Given the description of an element on the screen output the (x, y) to click on. 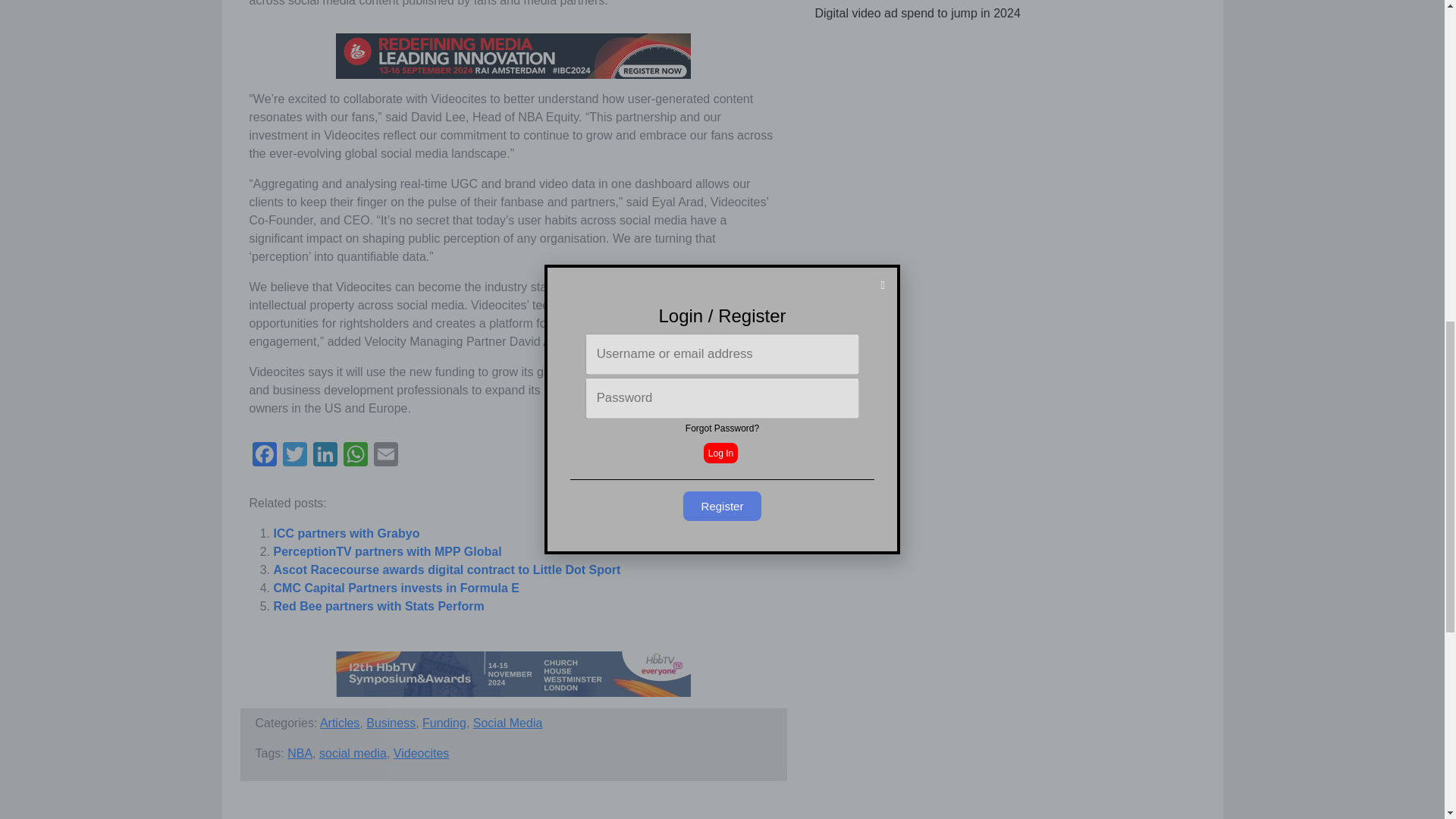
Funding (443, 722)
Ascot Racecourse awards digital contract to Little Dot Sport (446, 569)
social media (352, 753)
WhatsApp (354, 456)
CMC Capital Partners invests in Formula E (396, 587)
PerceptionTV partners with MPP Global (386, 551)
Red Bee partners with Stats Perform (378, 605)
ICC partners with Grabyo (346, 533)
Email (384, 456)
NBA (299, 753)
Business (390, 722)
LinkedIn (323, 456)
Social Media (508, 722)
Facebook (263, 456)
LinkedIn (323, 456)
